Given the description of an element on the screen output the (x, y) to click on. 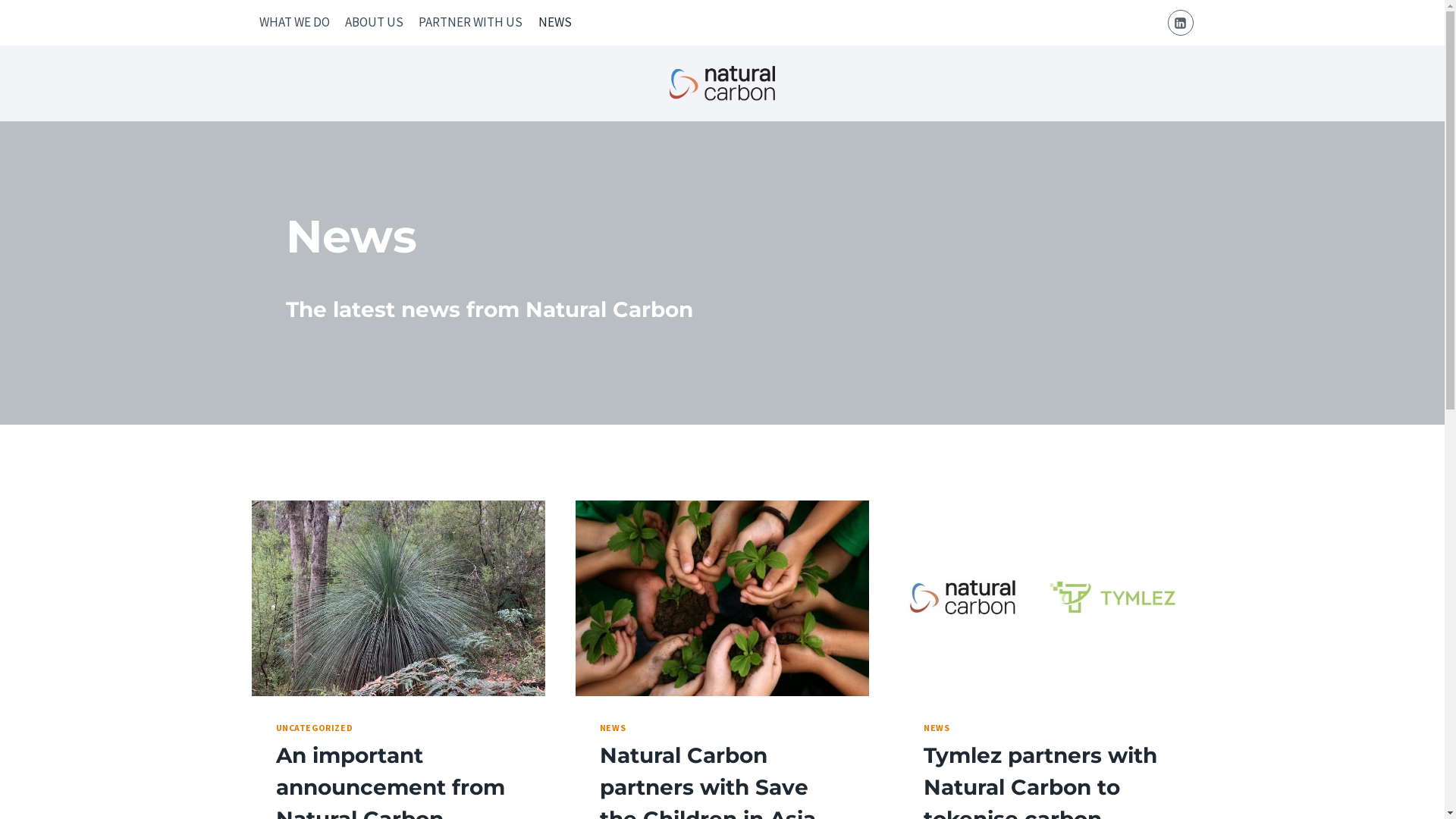
NEWS Element type: text (612, 727)
NEWS Element type: text (554, 22)
WHAT WE DO Element type: text (294, 22)
NEWS Element type: text (936, 727)
UNCATEGORIZED Element type: text (314, 727)
ABOUT US Element type: text (374, 22)
PARTNER WITH US Element type: text (470, 22)
